Given the description of an element on the screen output the (x, y) to click on. 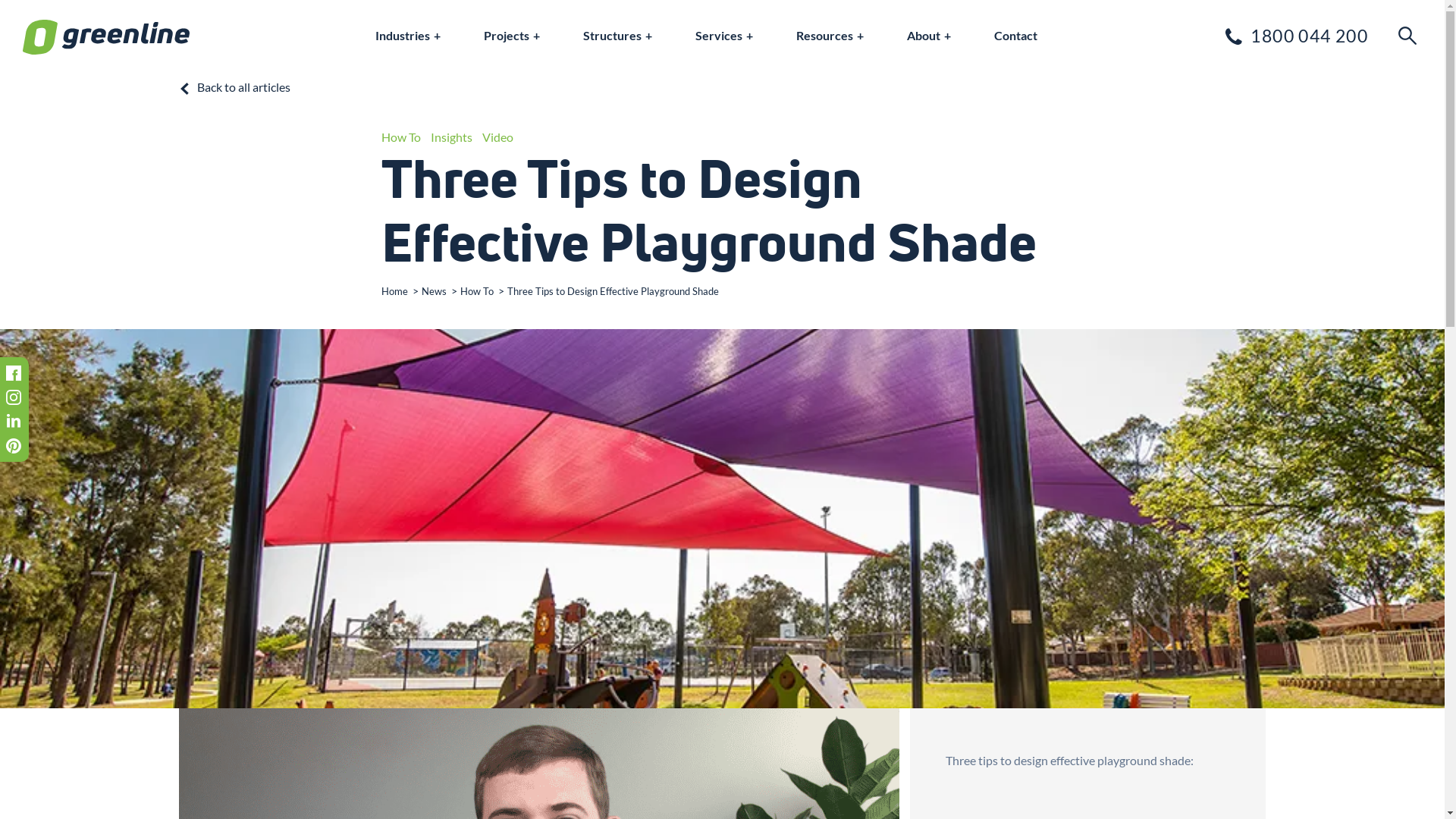
1800 044 200 Element type: text (1295, 35)
Projects Element type: text (511, 35)
Industries Element type: text (407, 35)
Insights Element type: text (451, 136)
Back to all articles Element type: text (721, 87)
Contact Element type: text (1015, 35)
Video Element type: text (497, 136)
Greenline Element type: text (105, 37)
Services Element type: text (724, 35)
Home Element type: text (393, 291)
How To Element type: text (475, 291)
Resources Element type: text (829, 35)
How To Element type: text (400, 136)
News Element type: text (433, 291)
Structures Element type: text (617, 35)
About Element type: text (928, 35)
